Given the description of an element on the screen output the (x, y) to click on. 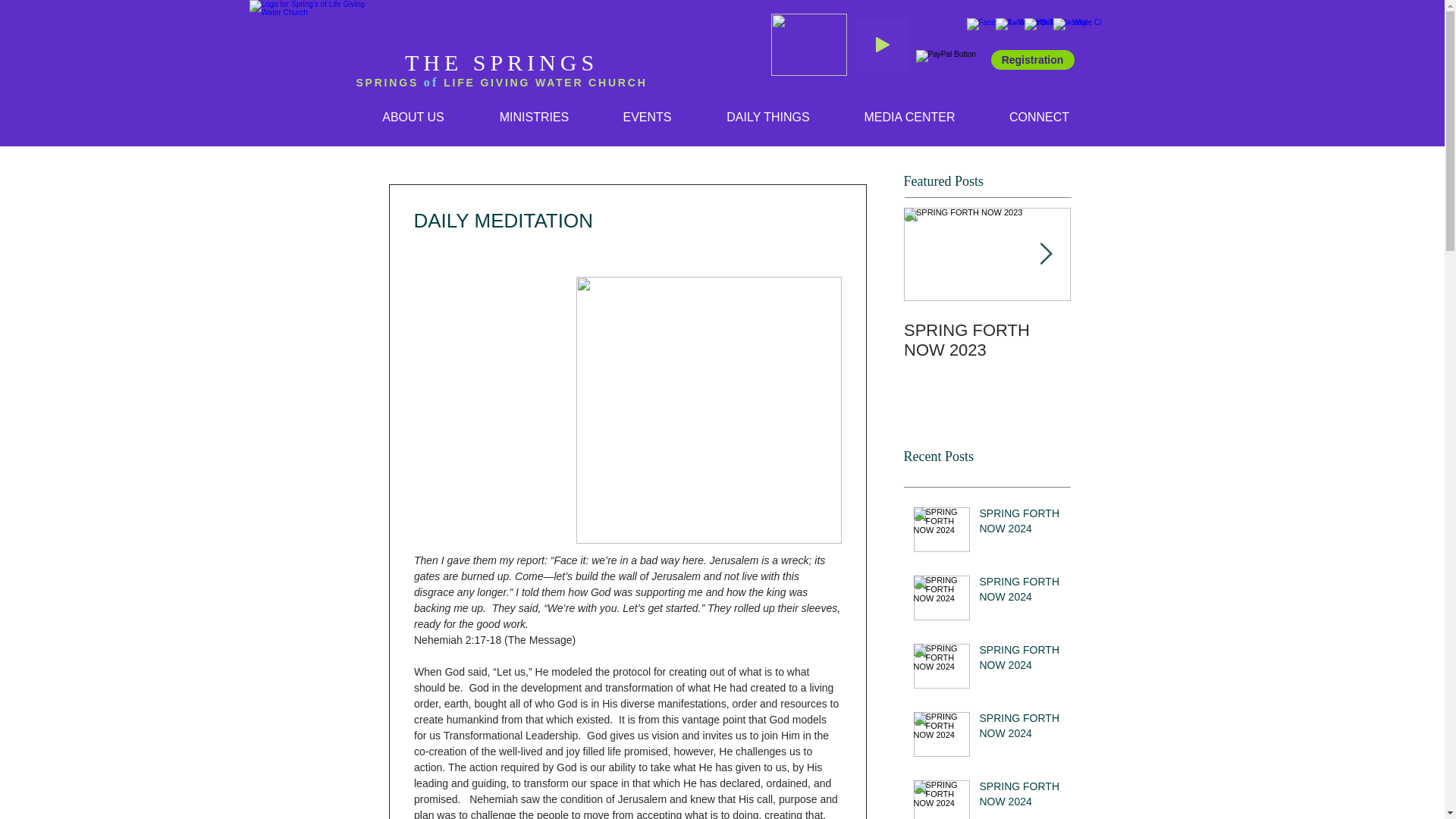
SPRING FORTH NOW 2023 (987, 340)
EVENTS (646, 116)
DAILY THINGS (768, 116)
ABOUT US (412, 116)
MEDIA CENTER (909, 116)
SPRING FORTH NOW 2024 (1020, 524)
CONNECT (1038, 116)
Registration (1032, 59)
THE SPRINGS (501, 62)
